Given the description of an element on the screen output the (x, y) to click on. 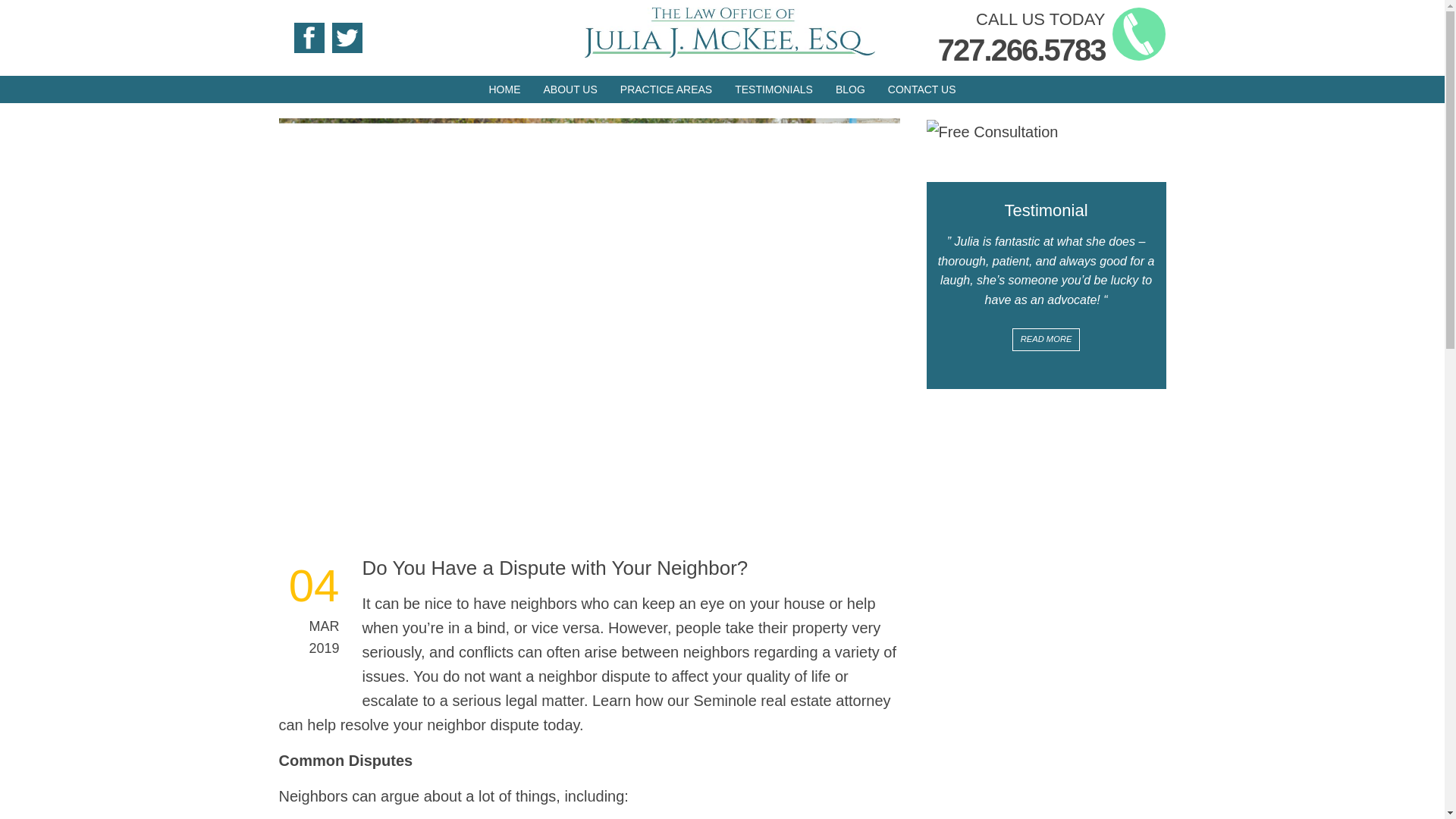
TESTIMONIALS (773, 89)
ABOUT US (570, 89)
727.266.5783 (1021, 49)
PRACTICE AREAS (665, 89)
CONTACT US (922, 89)
HOME (504, 89)
READ MORE (1045, 339)
BLOG (850, 89)
